Given the description of an element on the screen output the (x, y) to click on. 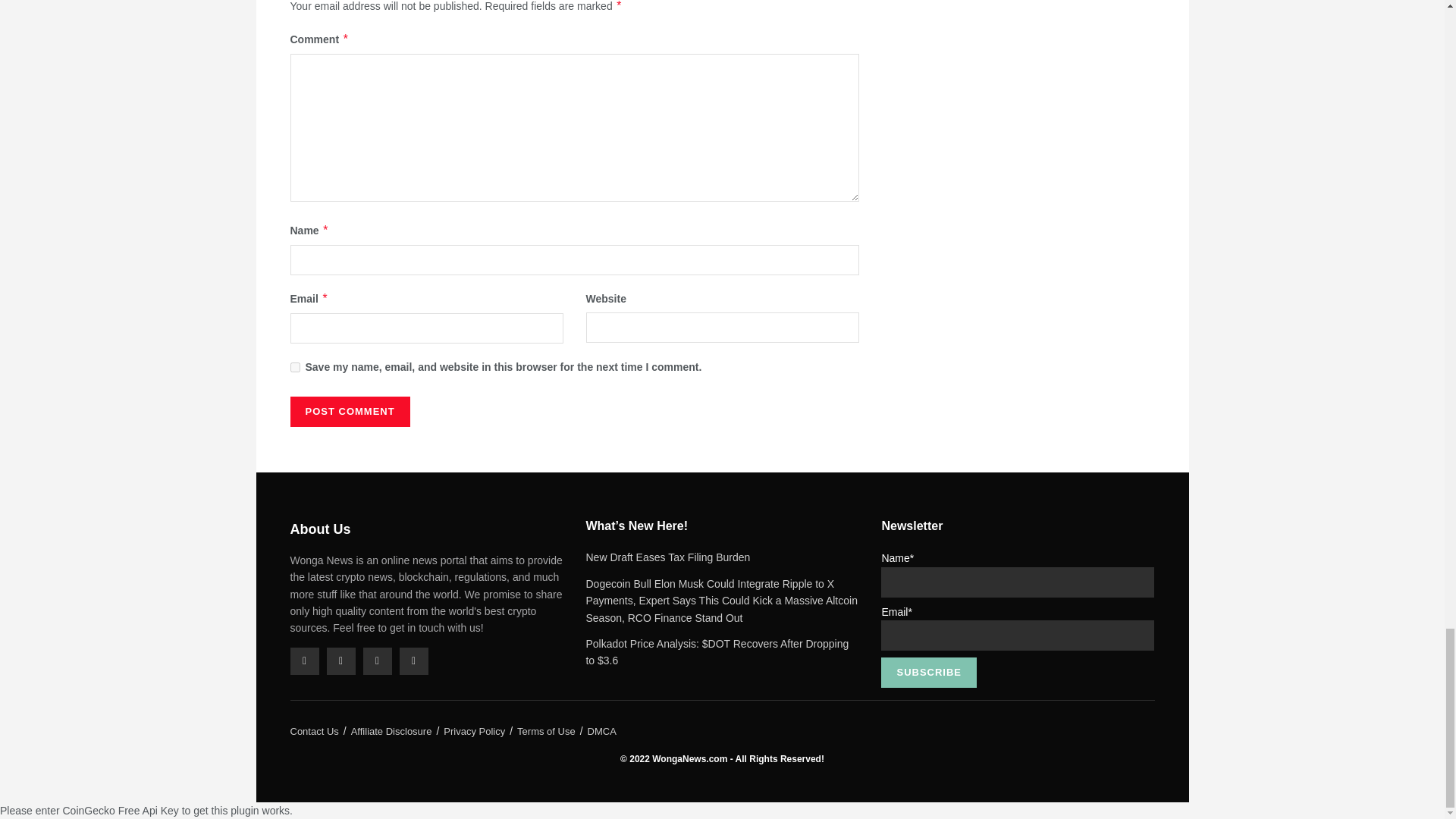
Subscribe (928, 672)
yes (294, 367)
Post Comment (349, 411)
